Given the description of an element on the screen output the (x, y) to click on. 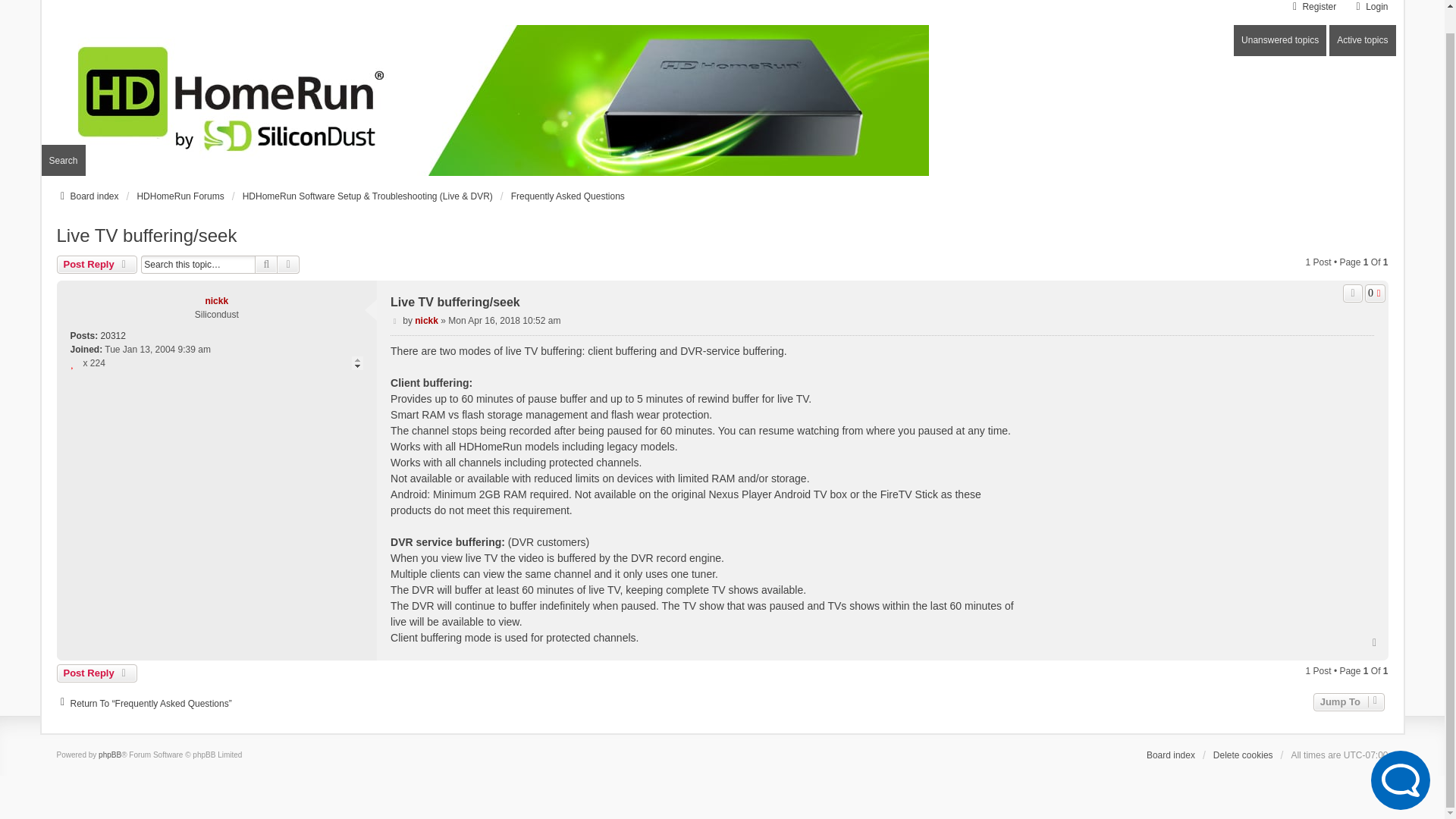
Reply with quote (1352, 293)
Search (266, 264)
20312 (112, 336)
Advanced search (288, 264)
nickk (216, 300)
Register (1312, 6)
Login (1369, 6)
Frequently Asked Questions (567, 196)
Top (1374, 642)
Advanced Search (288, 264)
Post Reply (96, 673)
Board index (86, 196)
Frequently Asked Questions (567, 196)
Top (1374, 642)
nickk (426, 320)
